Given the description of an element on the screen output the (x, y) to click on. 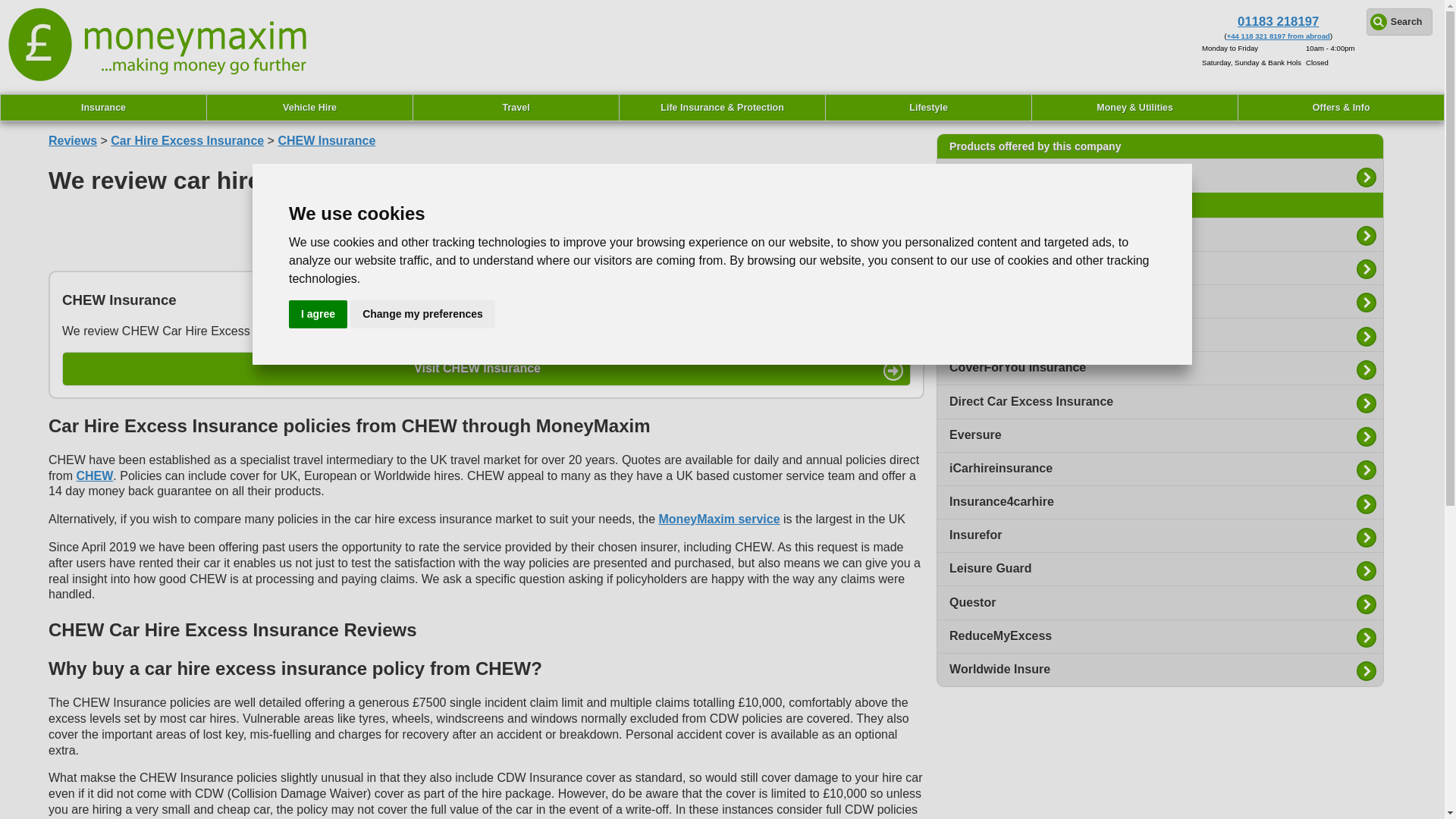
I agree (317, 314)
Change my preferences (422, 314)
